Given the description of an element on the screen output the (x, y) to click on. 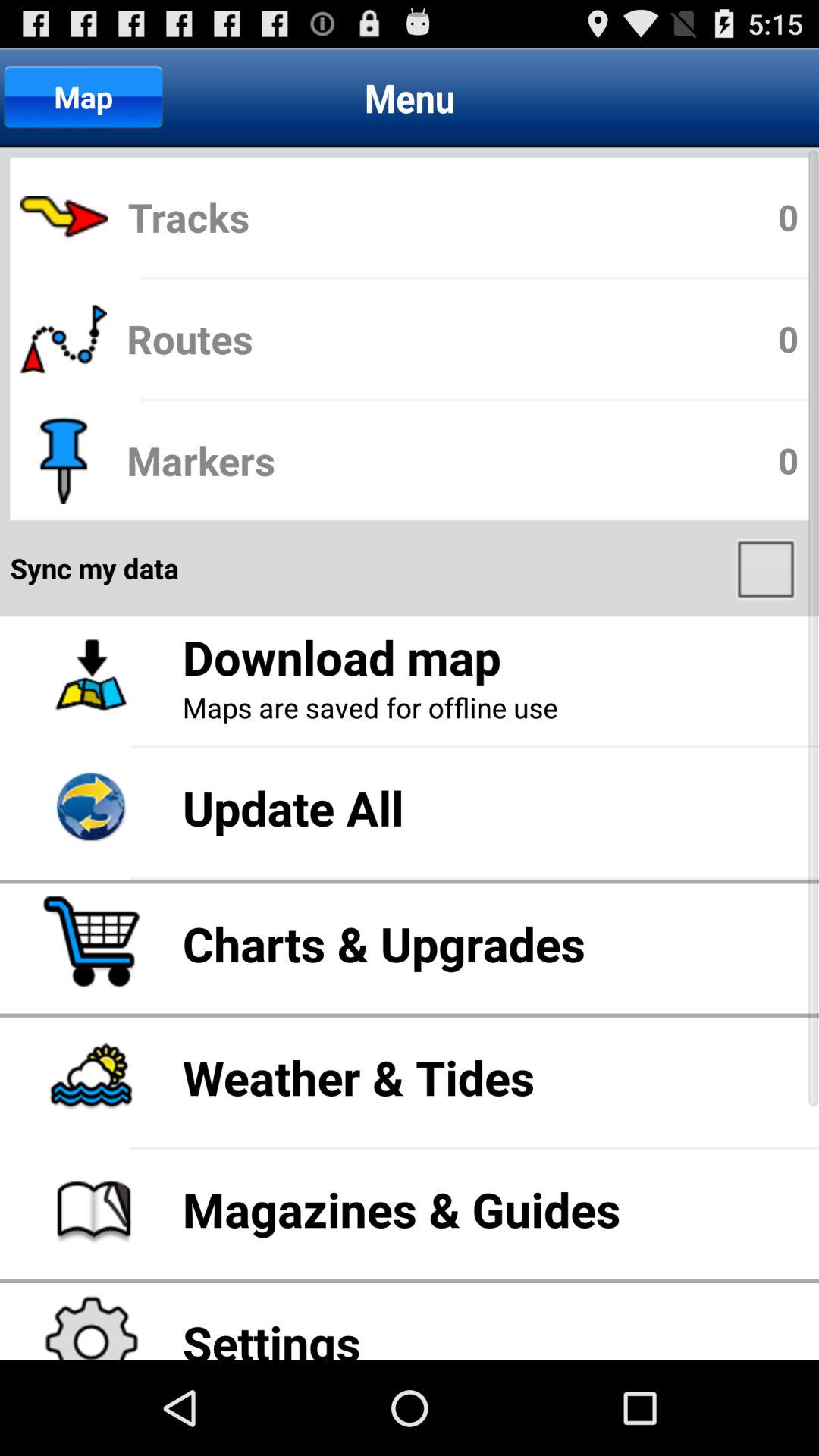
tap item on the right (767, 567)
